Given the description of an element on the screen output the (x, y) to click on. 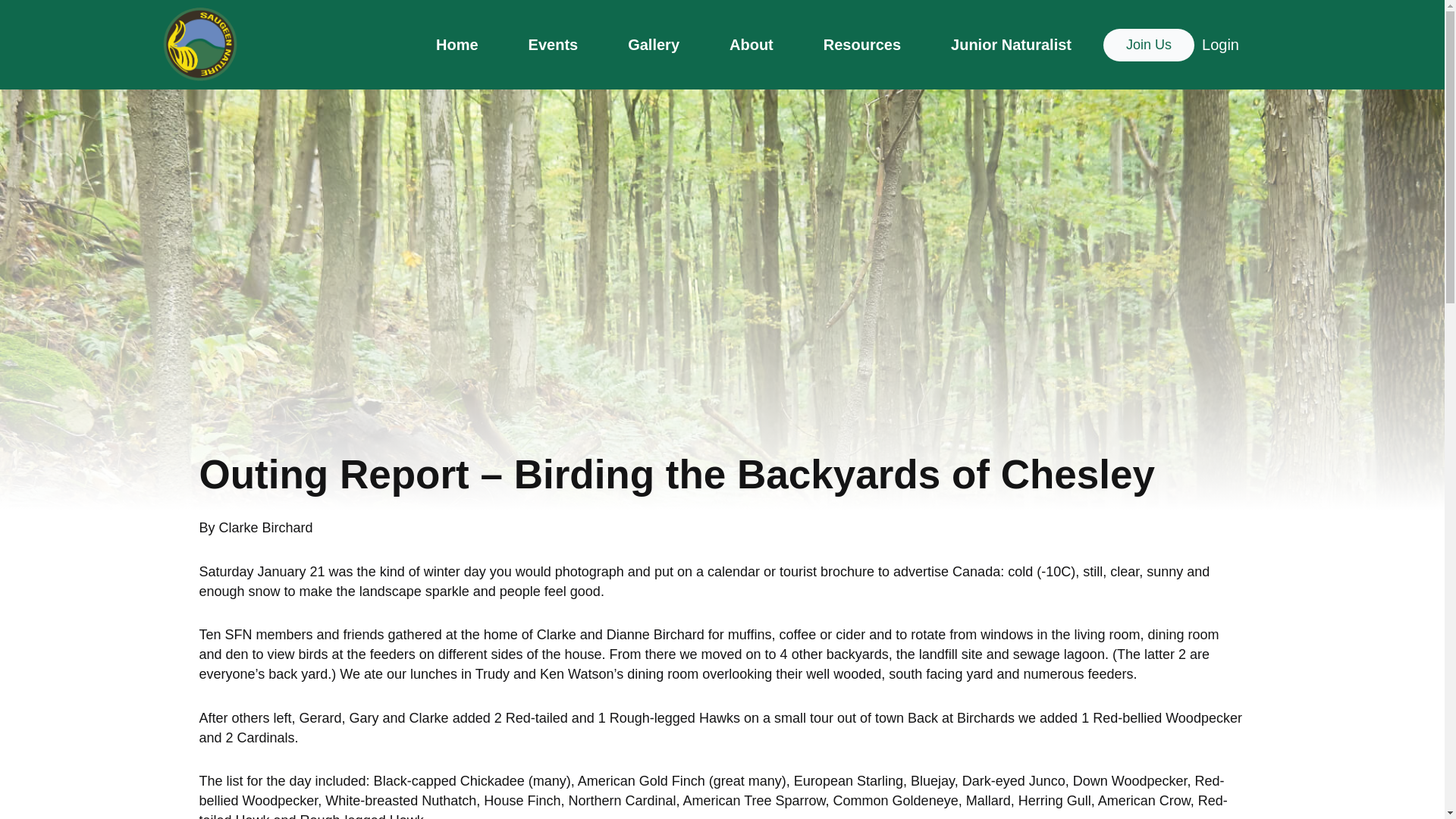
Gallery (653, 44)
Join Us (1148, 44)
Home (457, 44)
Resources (861, 44)
About (751, 44)
Login (1220, 44)
Events (553, 44)
Junior Naturalist (1010, 44)
